Given the description of an element on the screen output the (x, y) to click on. 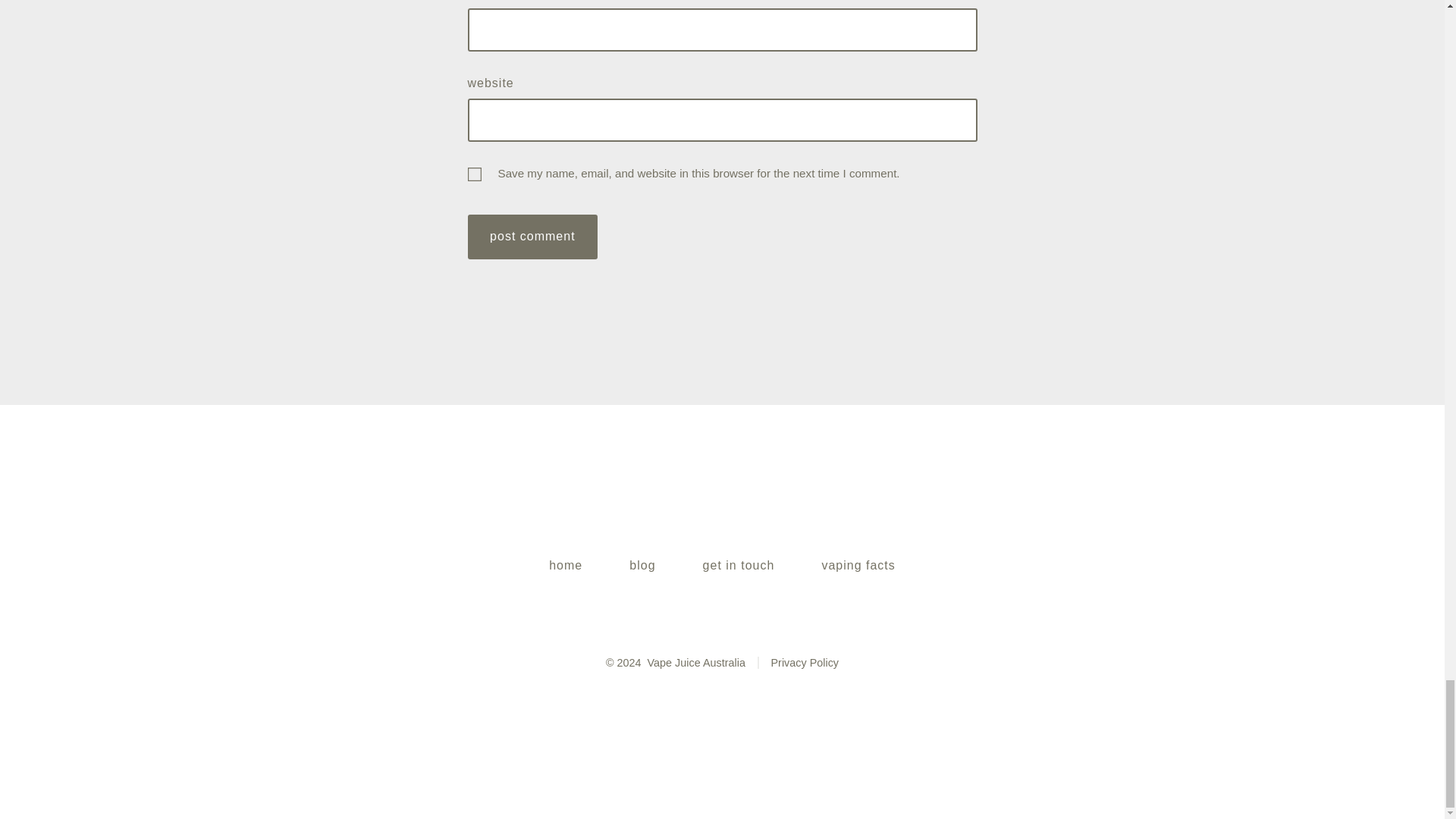
blog (643, 565)
home (565, 565)
Post Comment (531, 236)
vaping facts (858, 565)
Post Comment (531, 236)
Vape Juice Australia (696, 662)
get in touch (738, 565)
Privacy Policy (798, 662)
